Given the description of an element on the screen output the (x, y) to click on. 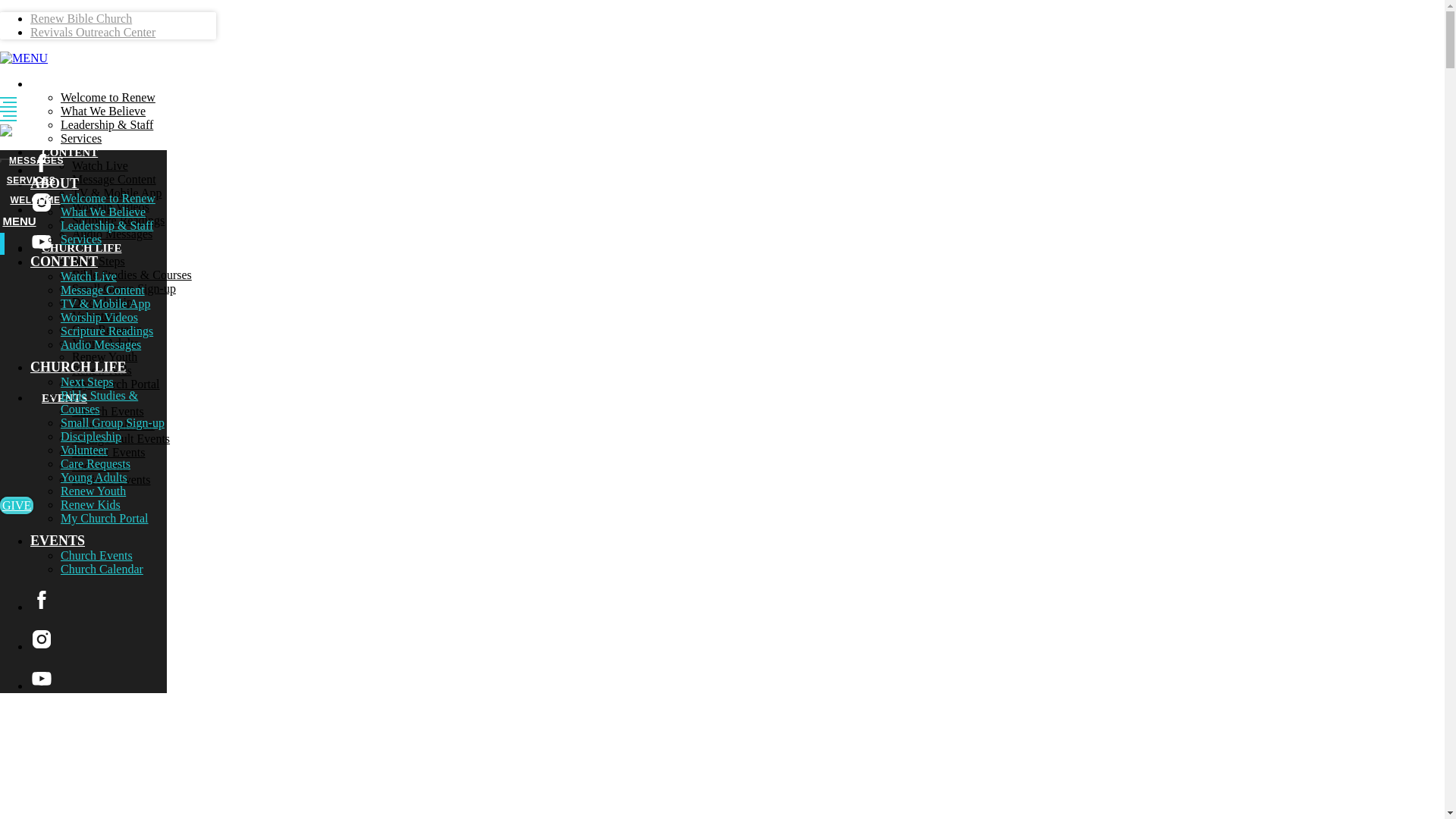
WELCOME (34, 200)
MENU (18, 221)
MESSAGES (36, 160)
GIVE (17, 140)
SERVICES (31, 180)
